Given the description of an element on the screen output the (x, y) to click on. 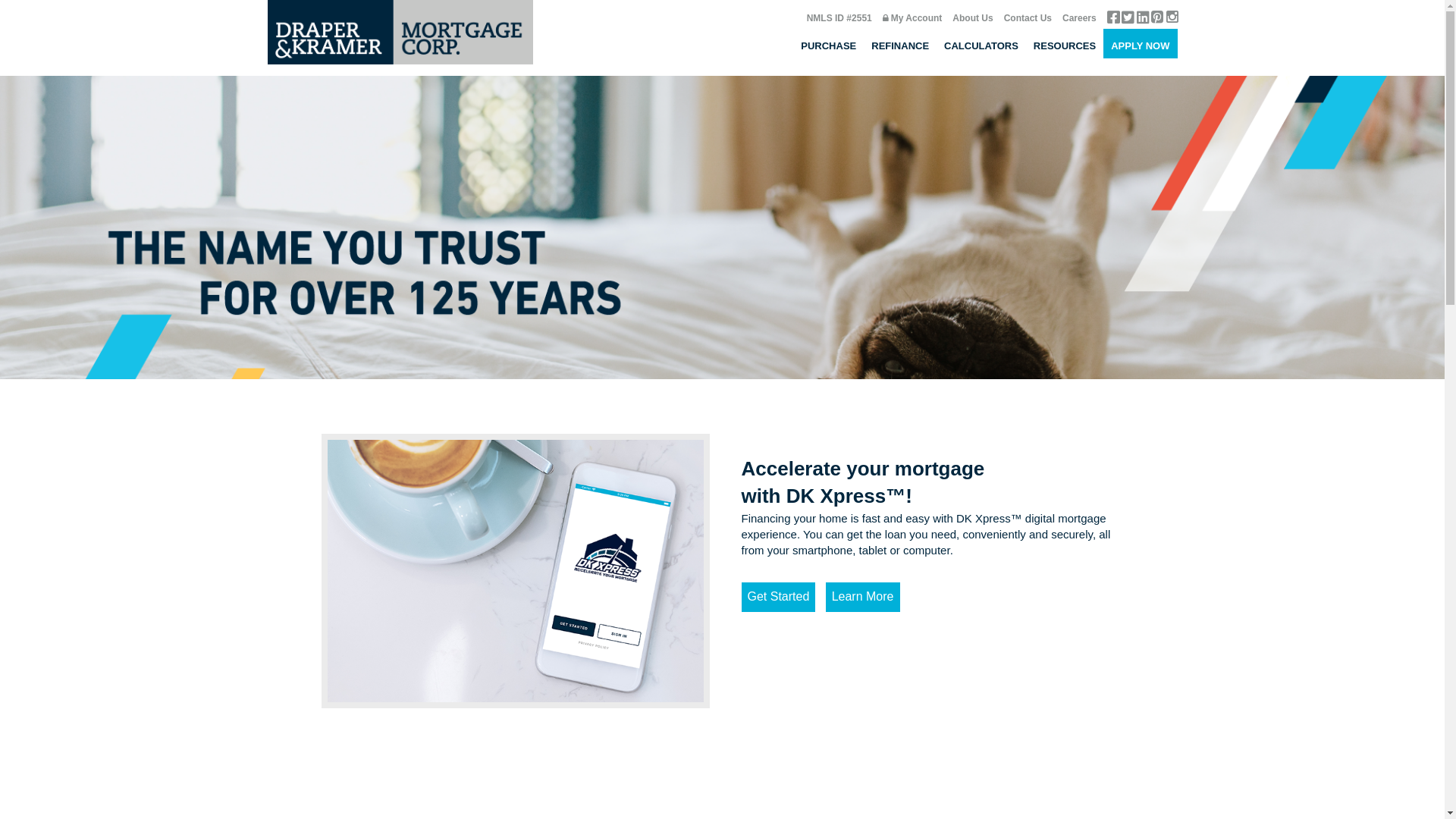
Get Started Element type: text (778, 595)
Contact Us Element type: text (1027, 17)
Learn More Element type: text (862, 595)
RESOURCES Element type: text (1064, 43)
Careers Element type: text (1079, 17)
CALCULATORS Element type: text (981, 43)
About Us Element type: text (972, 17)
My Account Element type: text (916, 17)
APPLY NOW Element type: text (1139, 43)
PURCHASE Element type: text (828, 43)
REFINANCE Element type: text (899, 43)
